Given the description of an element on the screen output the (x, y) to click on. 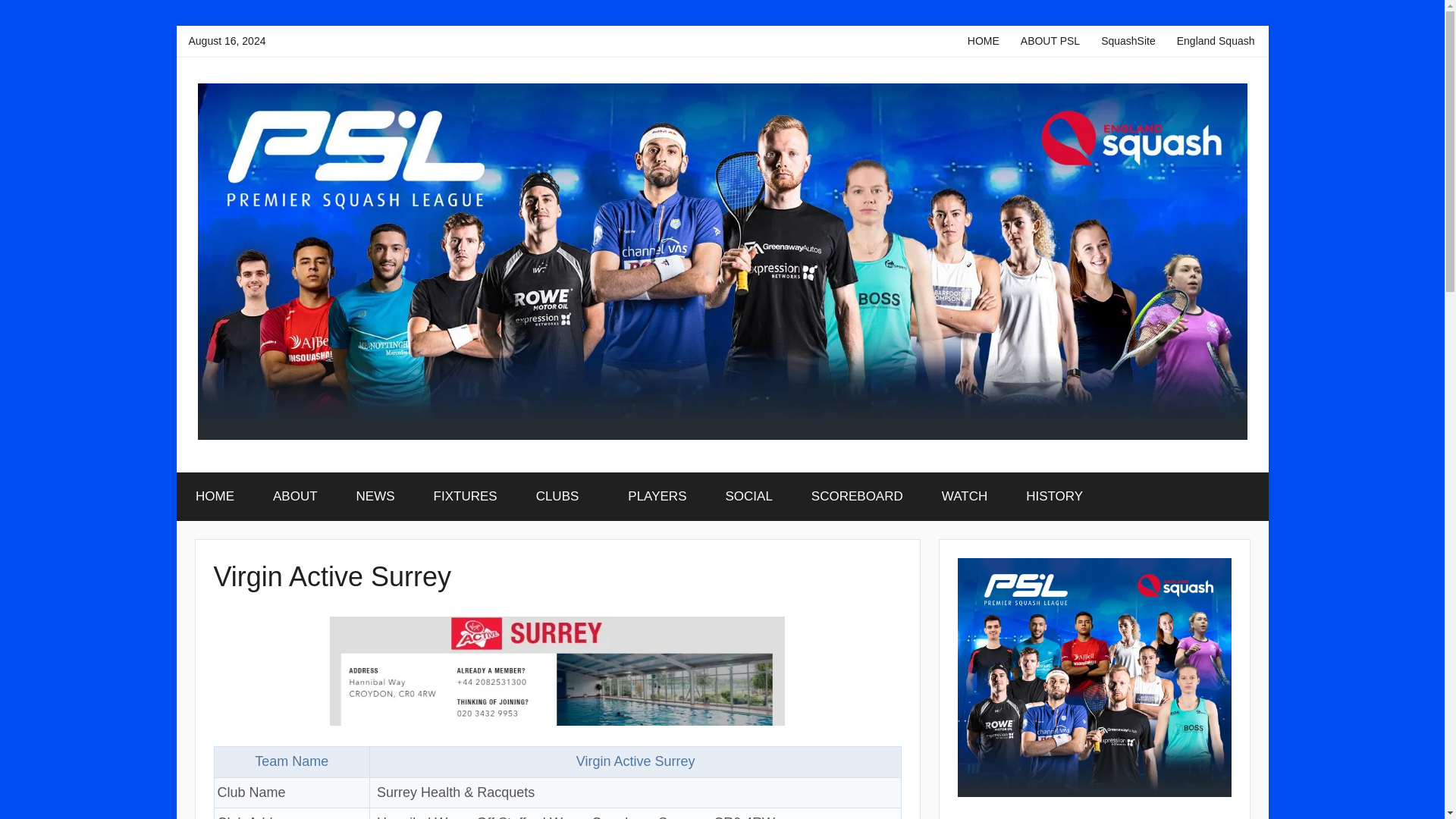
ABOUT (294, 496)
CLUBS (562, 496)
WATCH (963, 496)
SCOREBOARD (856, 496)
HOME (983, 40)
FIXTURES (464, 496)
England Squash (1215, 40)
ABOUT PSL (1050, 40)
SquashSite (1128, 40)
NEWS (374, 496)
